Given the description of an element on the screen output the (x, y) to click on. 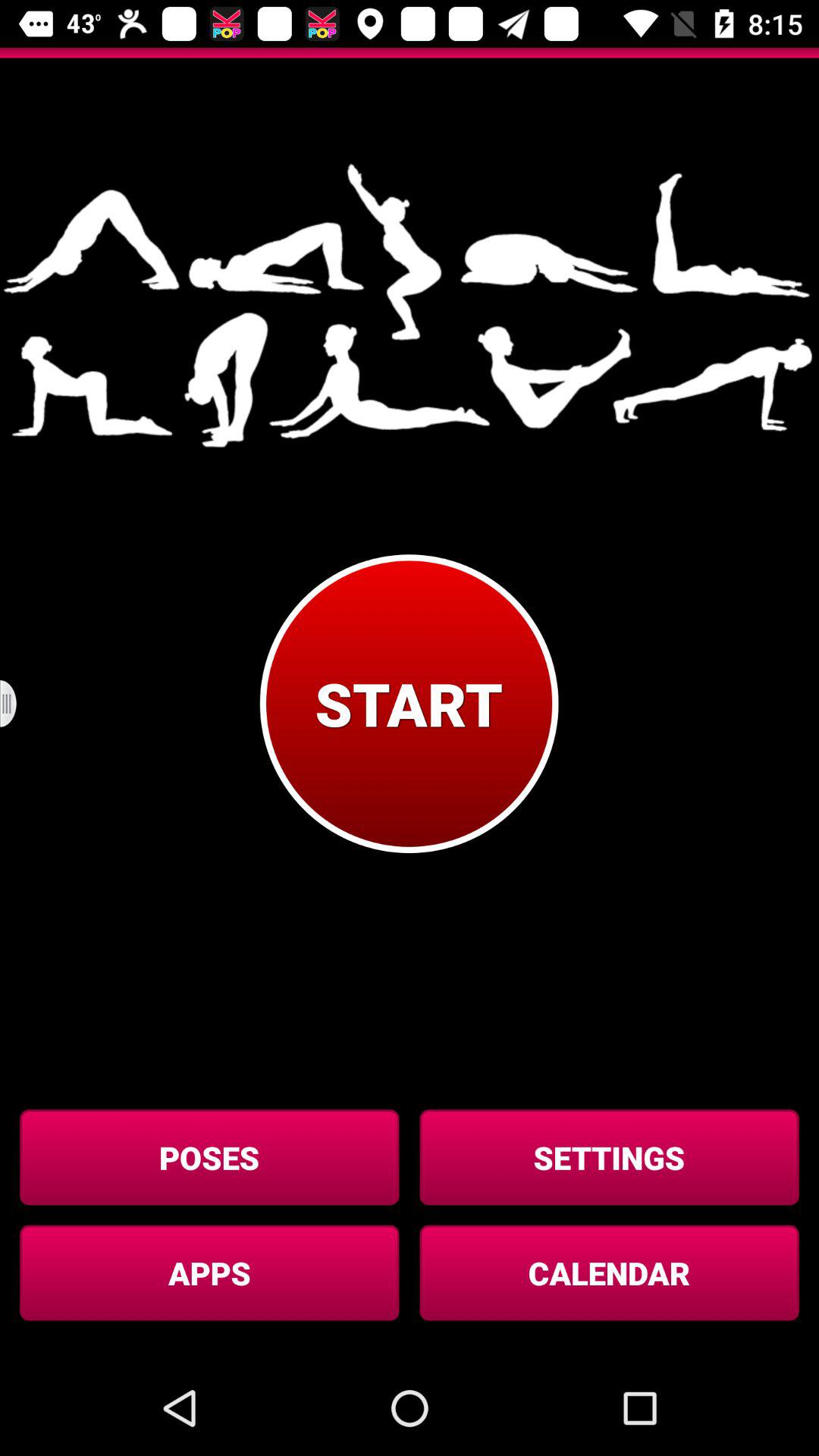
flip until the poses button (209, 1157)
